Given the description of an element on the screen output the (x, y) to click on. 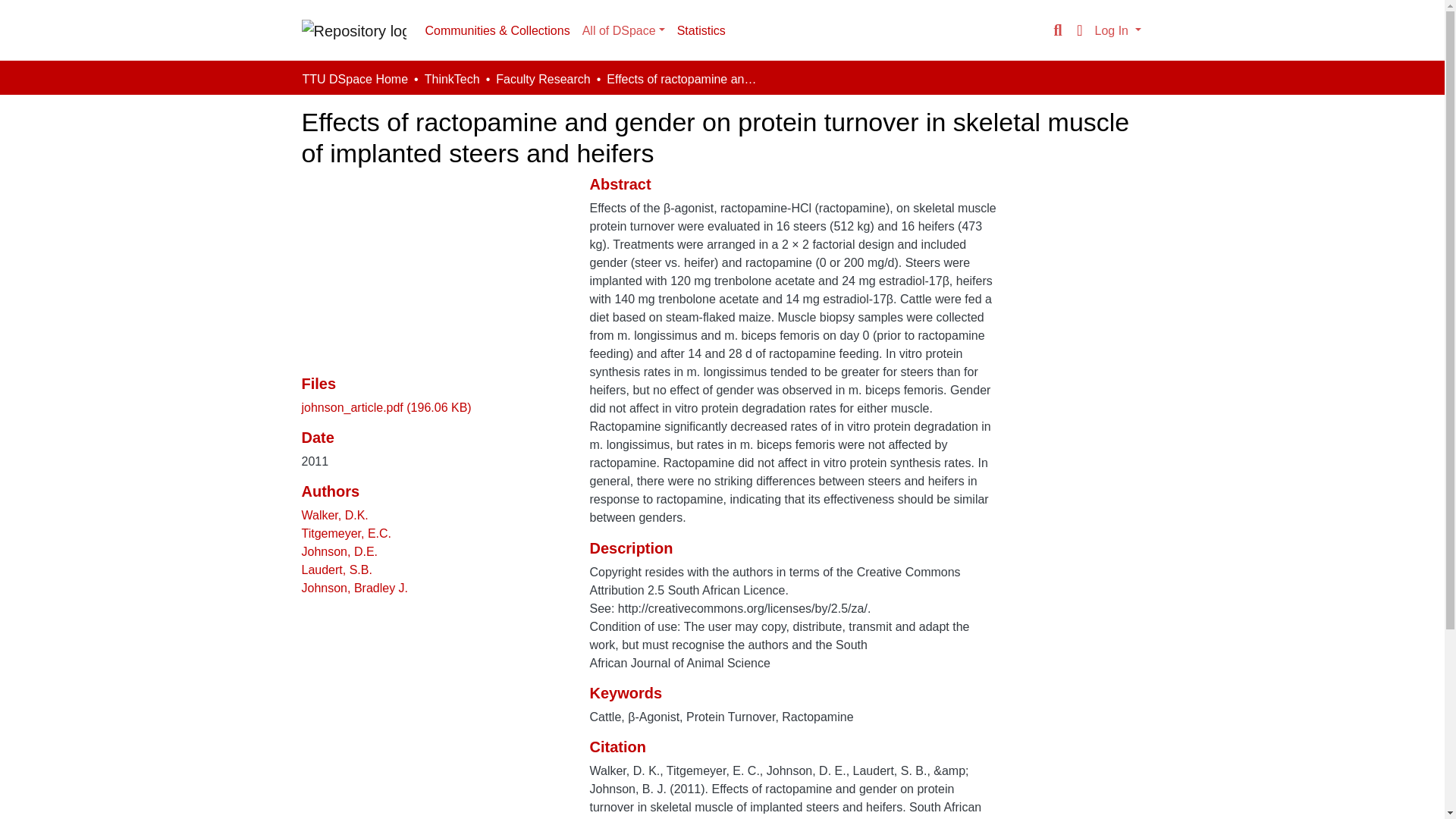
Titgemeyer, E.C. (346, 533)
All of DSpace (623, 30)
Language switch (1079, 30)
Walker, D.K. (334, 514)
Statistics (701, 30)
Search (1057, 30)
Faculty Research (543, 79)
TTU DSpace Home (354, 79)
Statistics (701, 30)
Johnson, D.E. (339, 551)
